Given the description of an element on the screen output the (x, y) to click on. 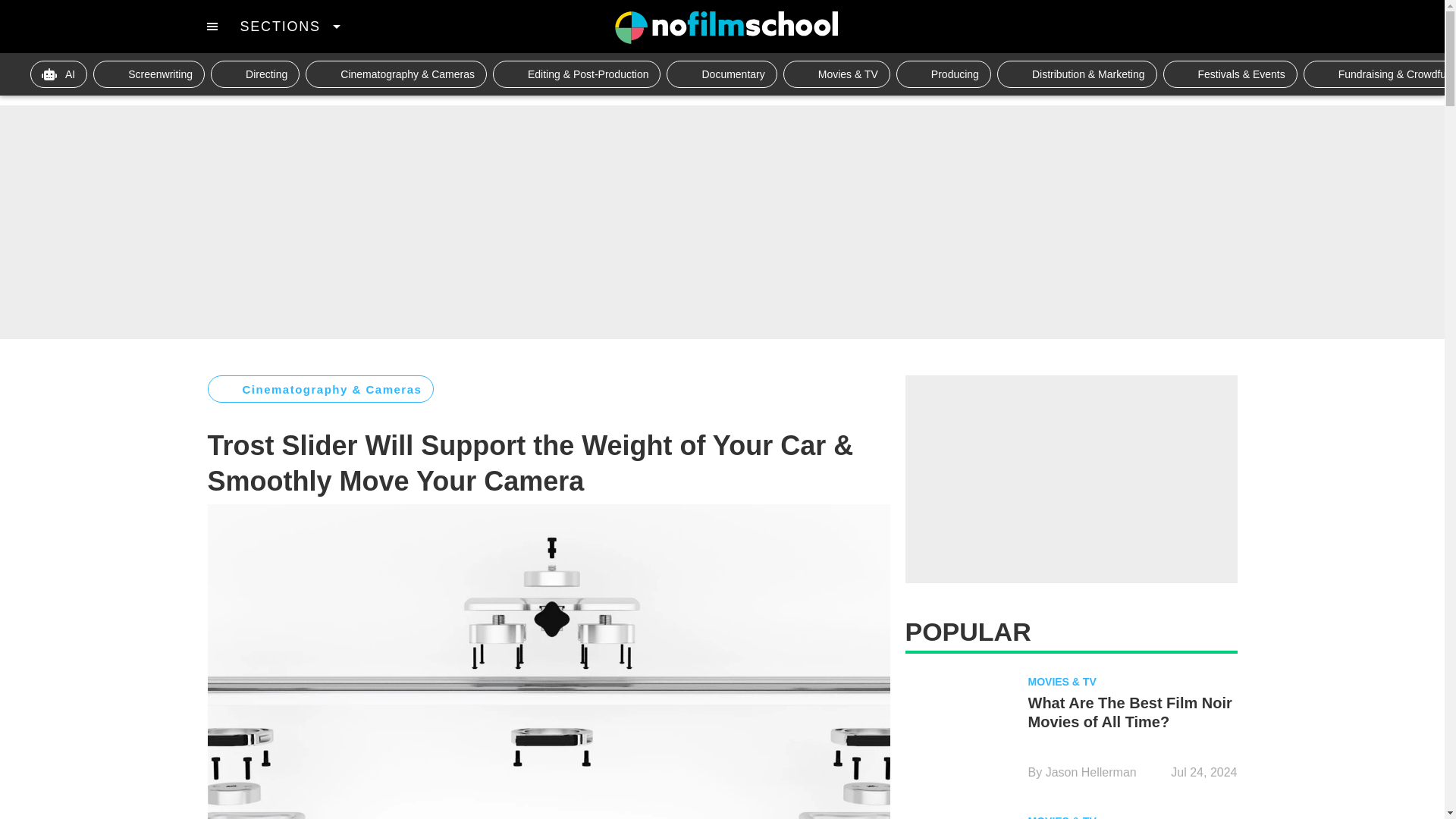
SECTIONS (289, 26)
Documentary (721, 73)
Producing (943, 73)
Directing (255, 73)
Screenwriting (149, 73)
NO FILM SCHOOL (725, 27)
NO FILM SCHOOL (725, 27)
AI (58, 73)
